Given the description of an element on the screen output the (x, y) to click on. 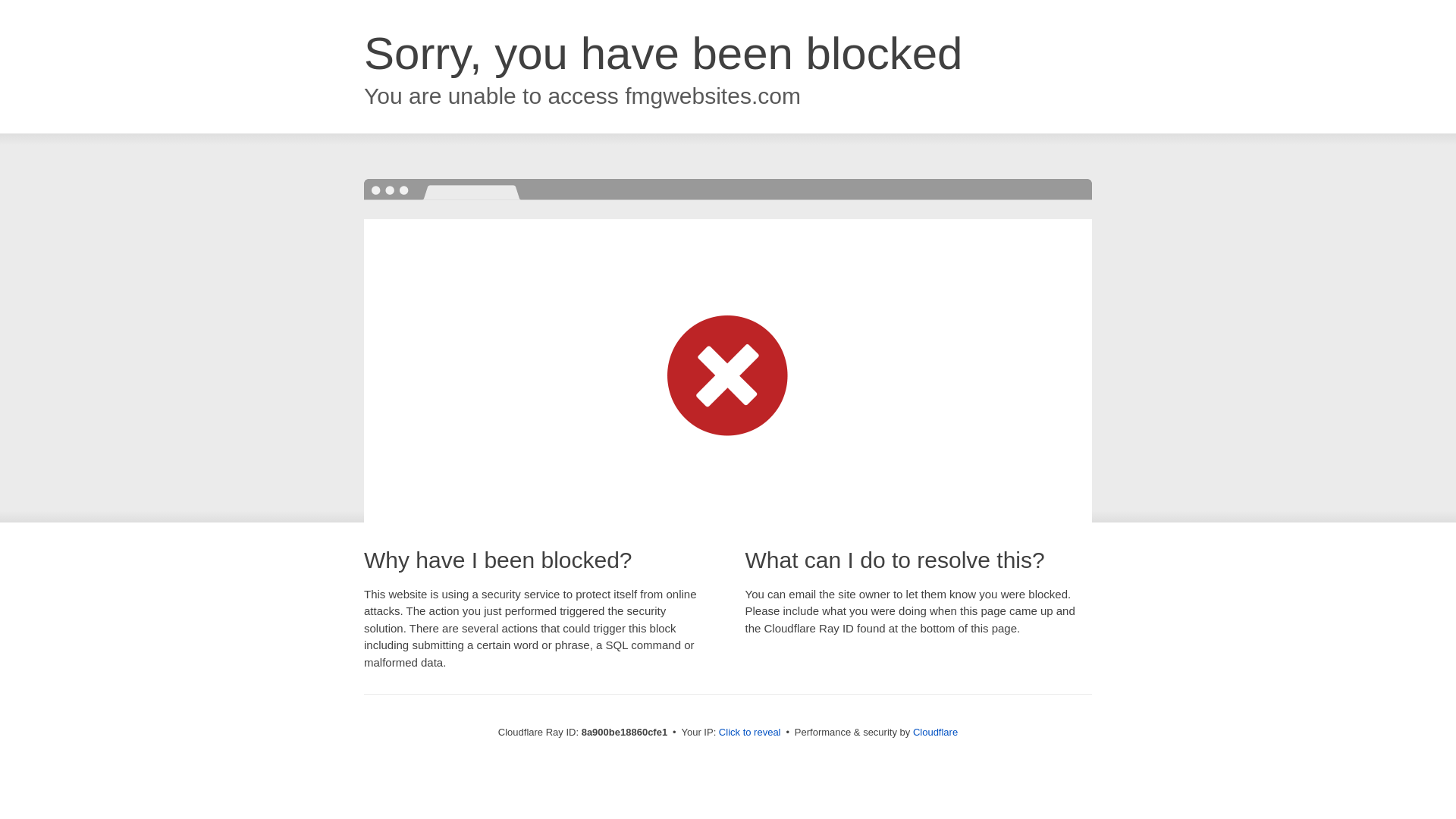
Cloudflare (935, 731)
Click to reveal (749, 732)
